Given the description of an element on the screen output the (x, y) to click on. 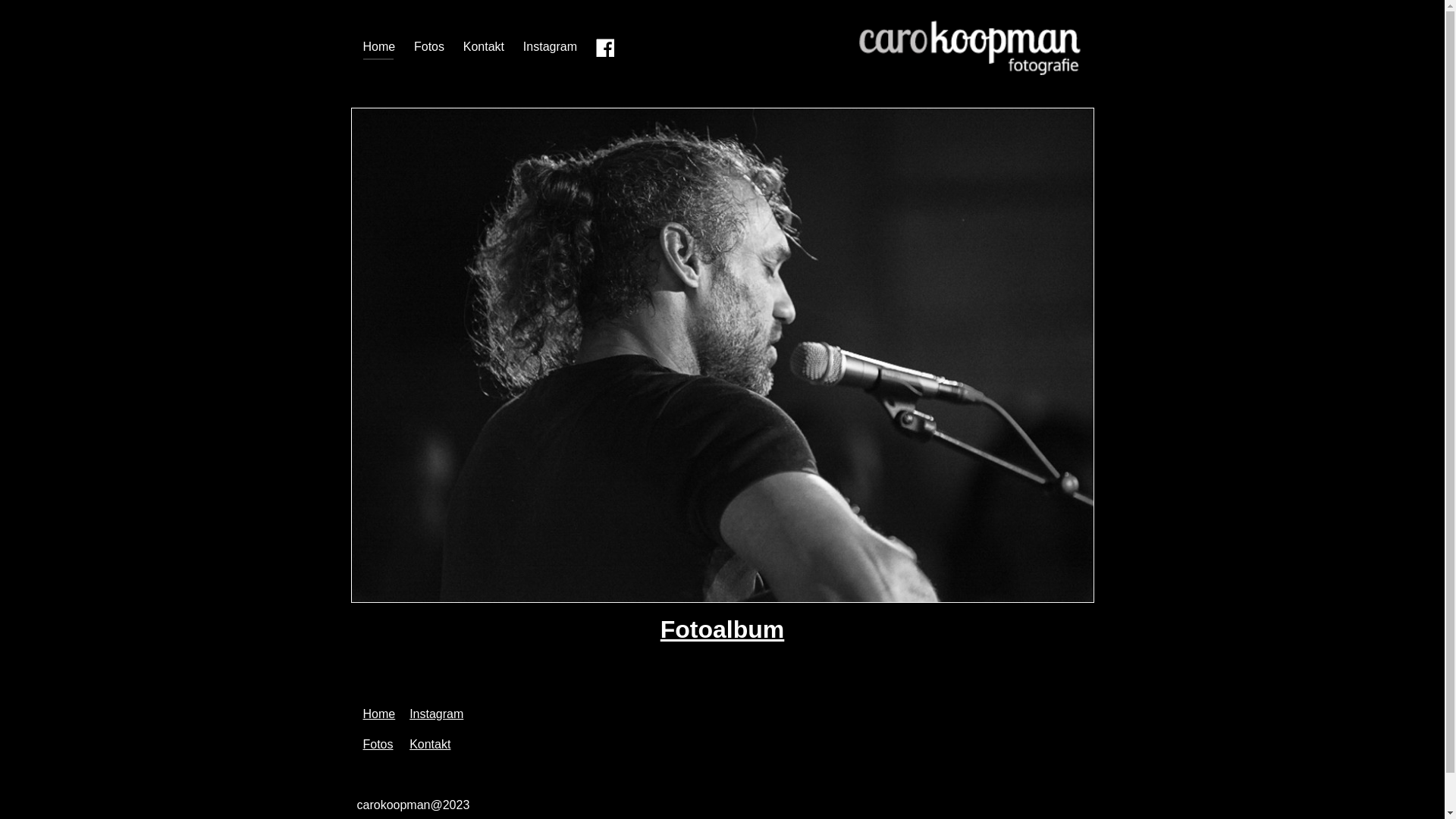
Kontakt Element type: text (429, 743)
Fotoalbum Element type: text (722, 629)
Home Element type: text (378, 46)
Fotos Element type: text (377, 743)
Instagram Element type: text (550, 46)
Instagram Element type: text (436, 713)
Kontakt Element type: text (483, 46)
Home Element type: text (378, 713)
Fotos Element type: text (429, 46)
